Given the description of an element on the screen output the (x, y) to click on. 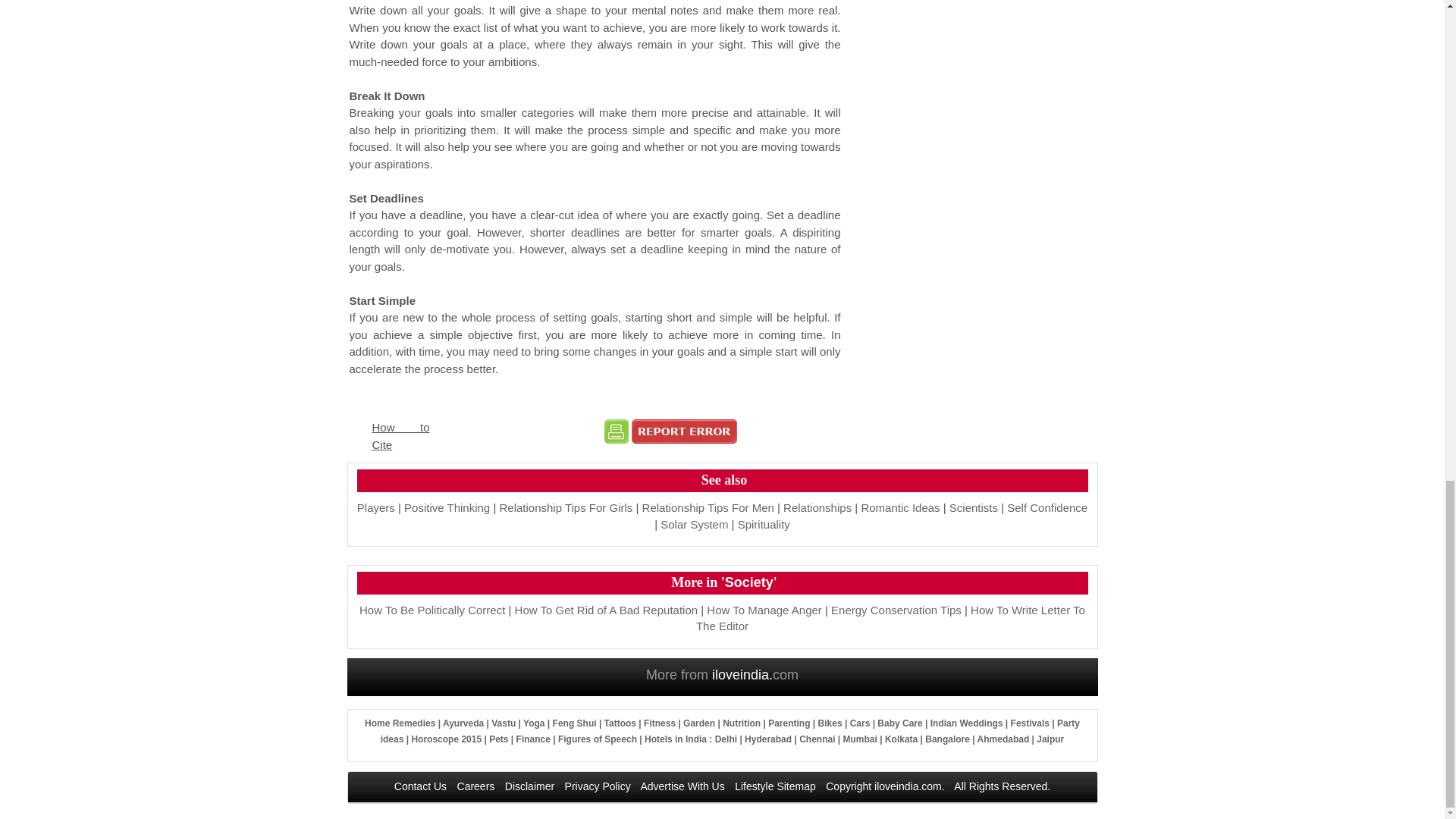
Self Confidence (1047, 507)
Scientists (973, 507)
Relationships (817, 507)
Relationship Tips For Girls (565, 507)
Romantic Ideas (899, 507)
Positive Thinking (446, 507)
Relationship Tips For Men (708, 507)
Players (375, 507)
